Given the description of an element on the screen output the (x, y) to click on. 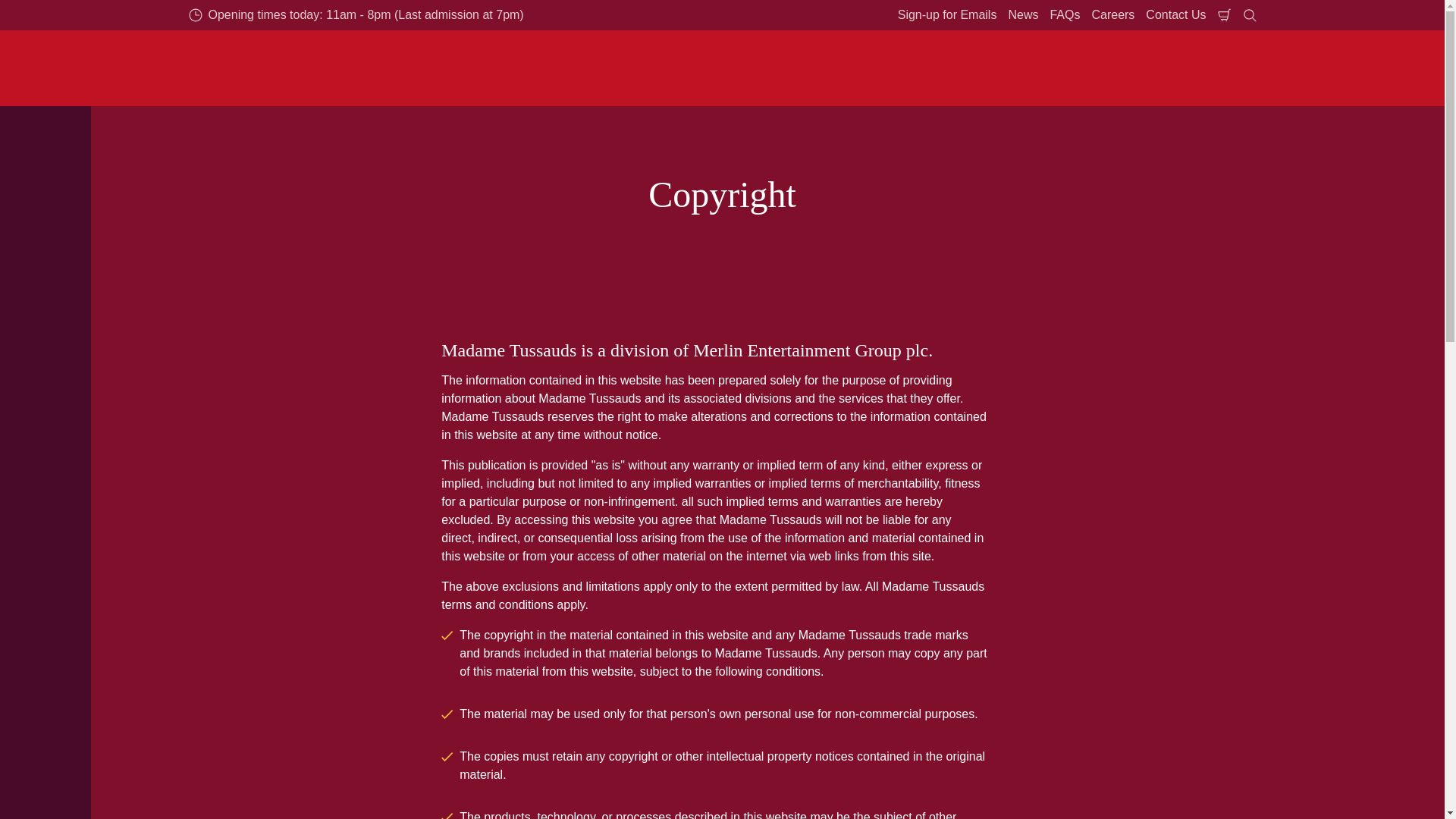
Search (1249, 14)
Shopping Cart (1223, 14)
Check out (1223, 14)
FAQs (1064, 14)
News (1023, 14)
Contact Us (1175, 14)
Careers (1112, 14)
Sign-up for Emails (947, 14)
